Given the description of an element on the screen output the (x, y) to click on. 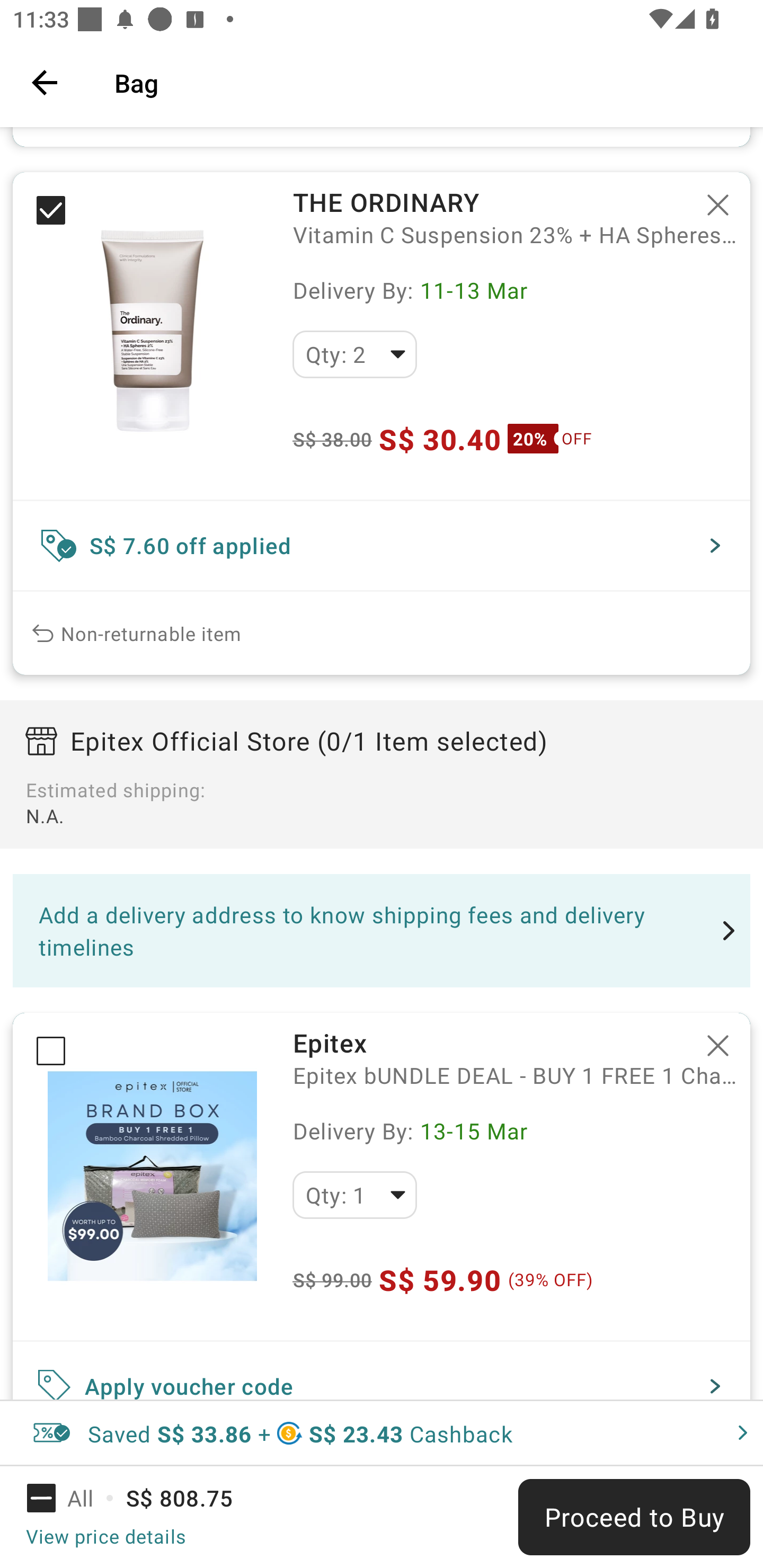
Navigate up (44, 82)
Bag (426, 82)
Qty: 2 (354, 353)
S$ 7.60 off applied (381, 545)
Qty: 1 (354, 1194)
Apply voucher code (381, 1371)
Saved S$ 33.86 +   S$ 23.43 Cashback (381, 1432)
All (72, 1497)
Proceed to Buy (634, 1516)
View price details (105, 1535)
